Given the description of an element on the screen output the (x, y) to click on. 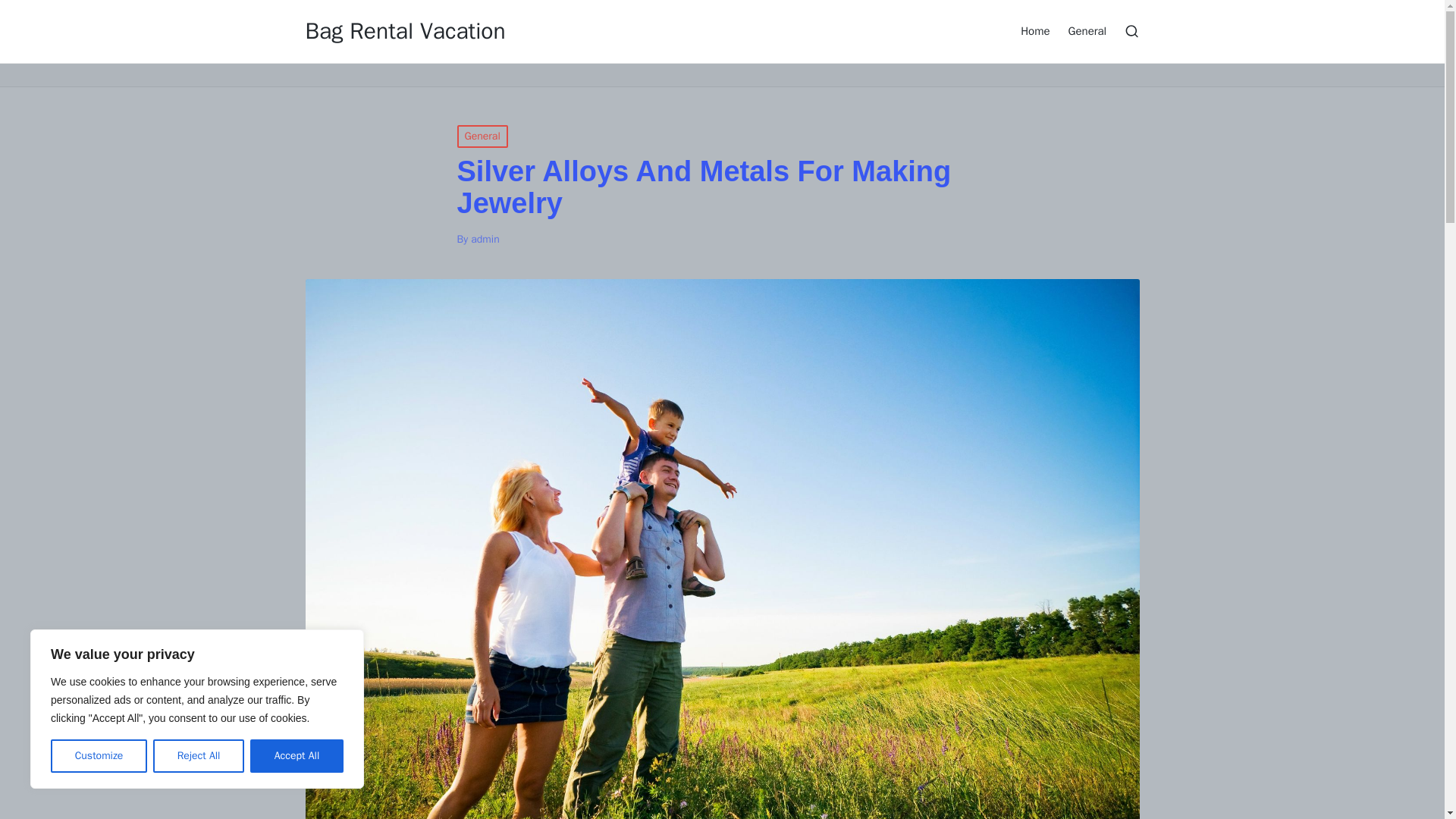
General (1087, 30)
Reject All (198, 756)
Bag Rental Vacation (404, 31)
General (481, 136)
View all posts by  (484, 238)
Customize (98, 756)
Accept All (296, 756)
admin (484, 238)
Home (1034, 30)
